Given the description of an element on the screen output the (x, y) to click on. 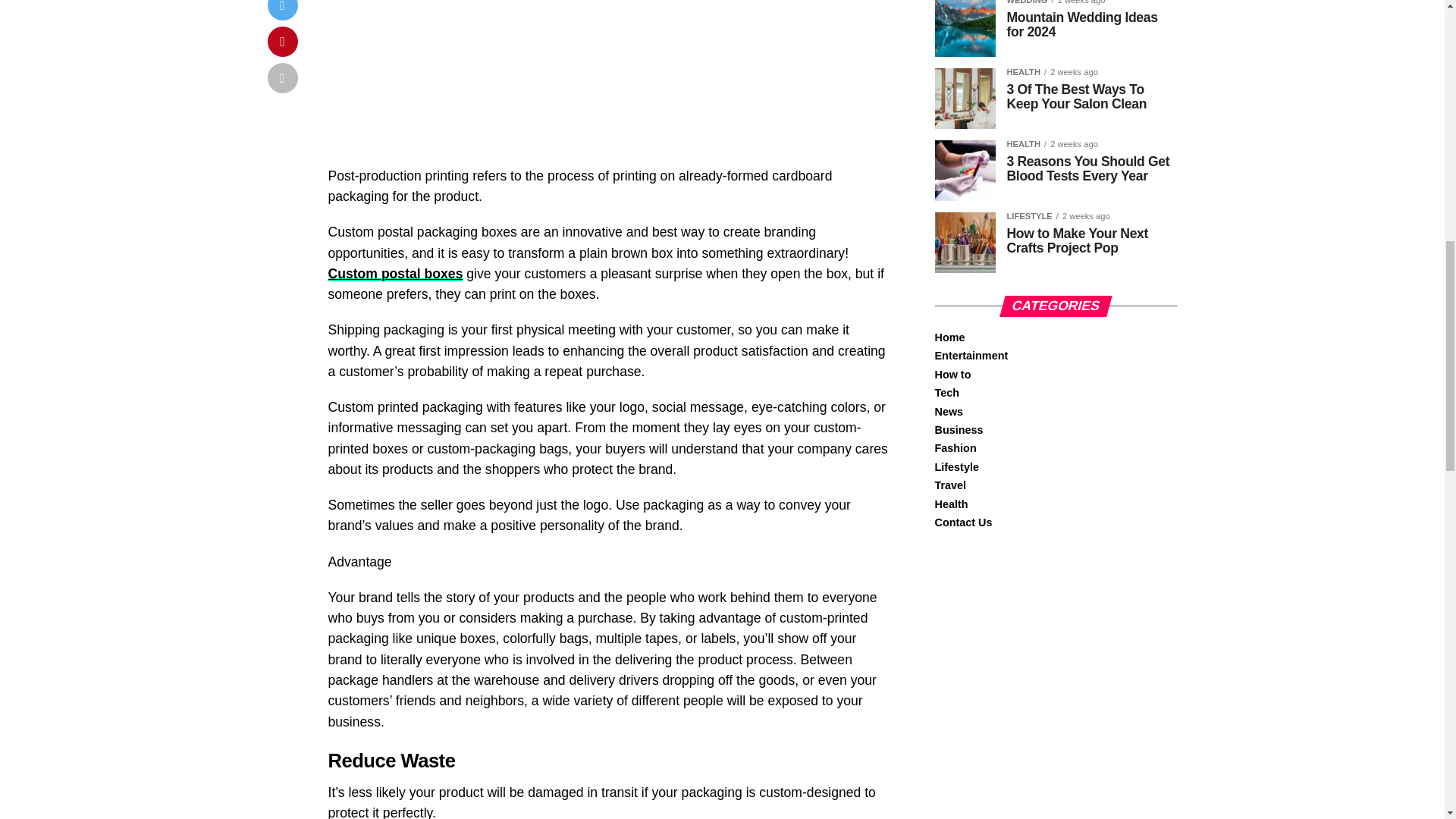
Advertisement (607, 83)
